Given the description of an element on the screen output the (x, y) to click on. 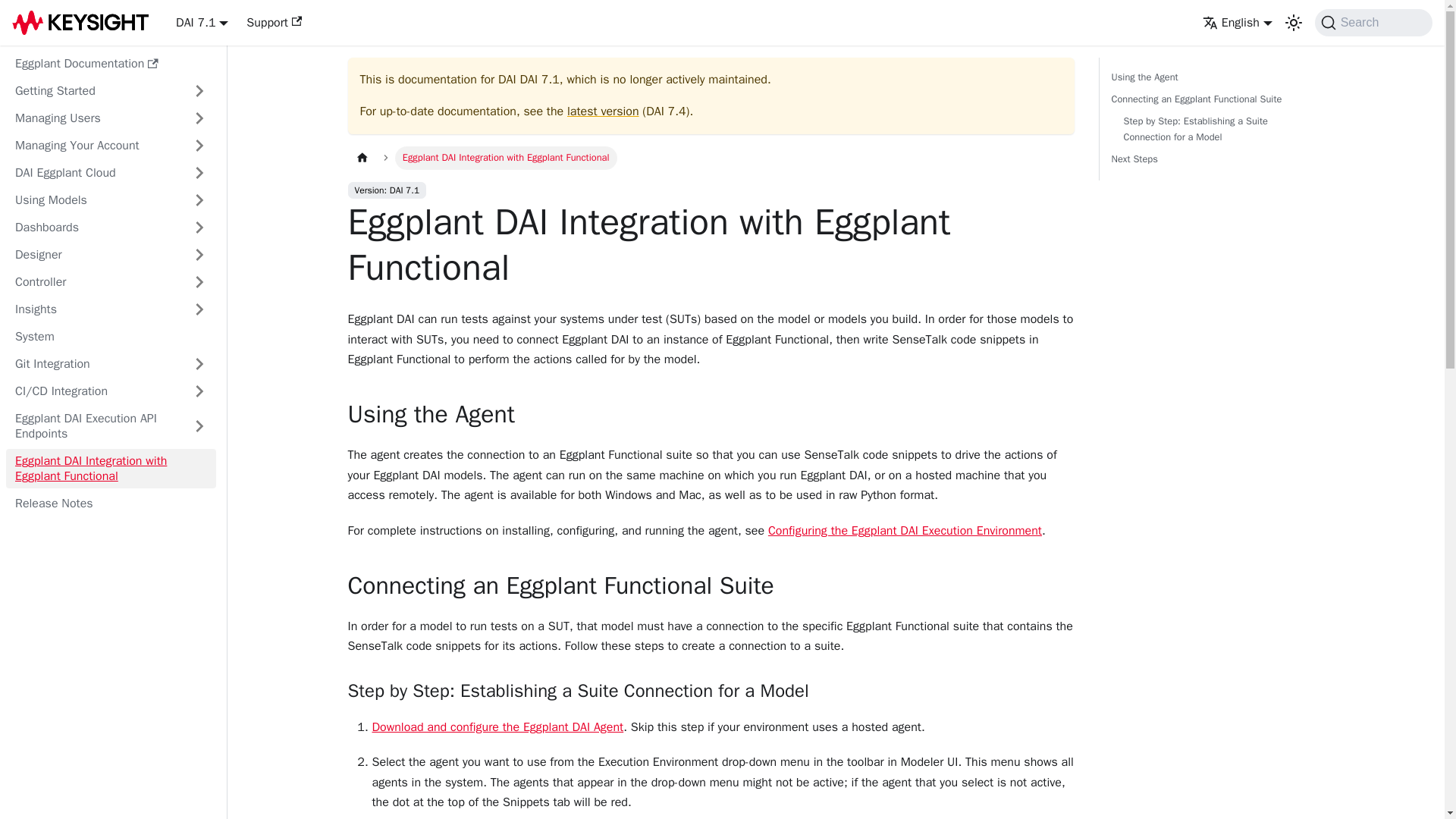
Using Models (110, 200)
Managing Your Account (110, 145)
Search (1373, 22)
Dashboards (110, 227)
latest version (603, 111)
Configuring the Eggplant DAI Execution Environment (905, 530)
Release Notes (110, 503)
System (110, 336)
English (1237, 22)
Controller (110, 282)
